Given the description of an element on the screen output the (x, y) to click on. 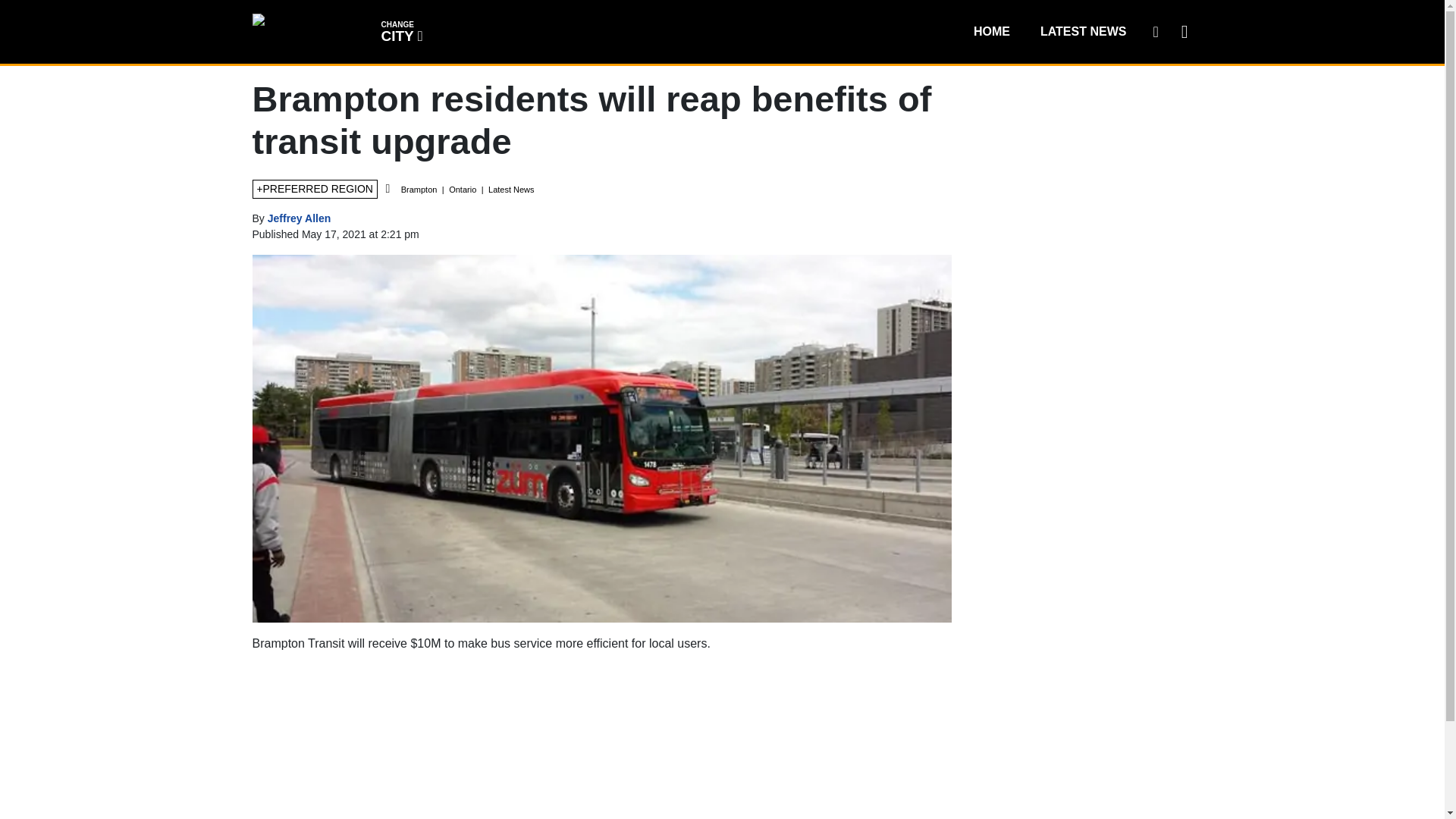
LATEST NEWS (1083, 31)
SIGN UP FOR OUR NEWSLETTER (1155, 31)
Posts by 944 (400, 30)
HOME (299, 218)
